Given the description of an element on the screen output the (x, y) to click on. 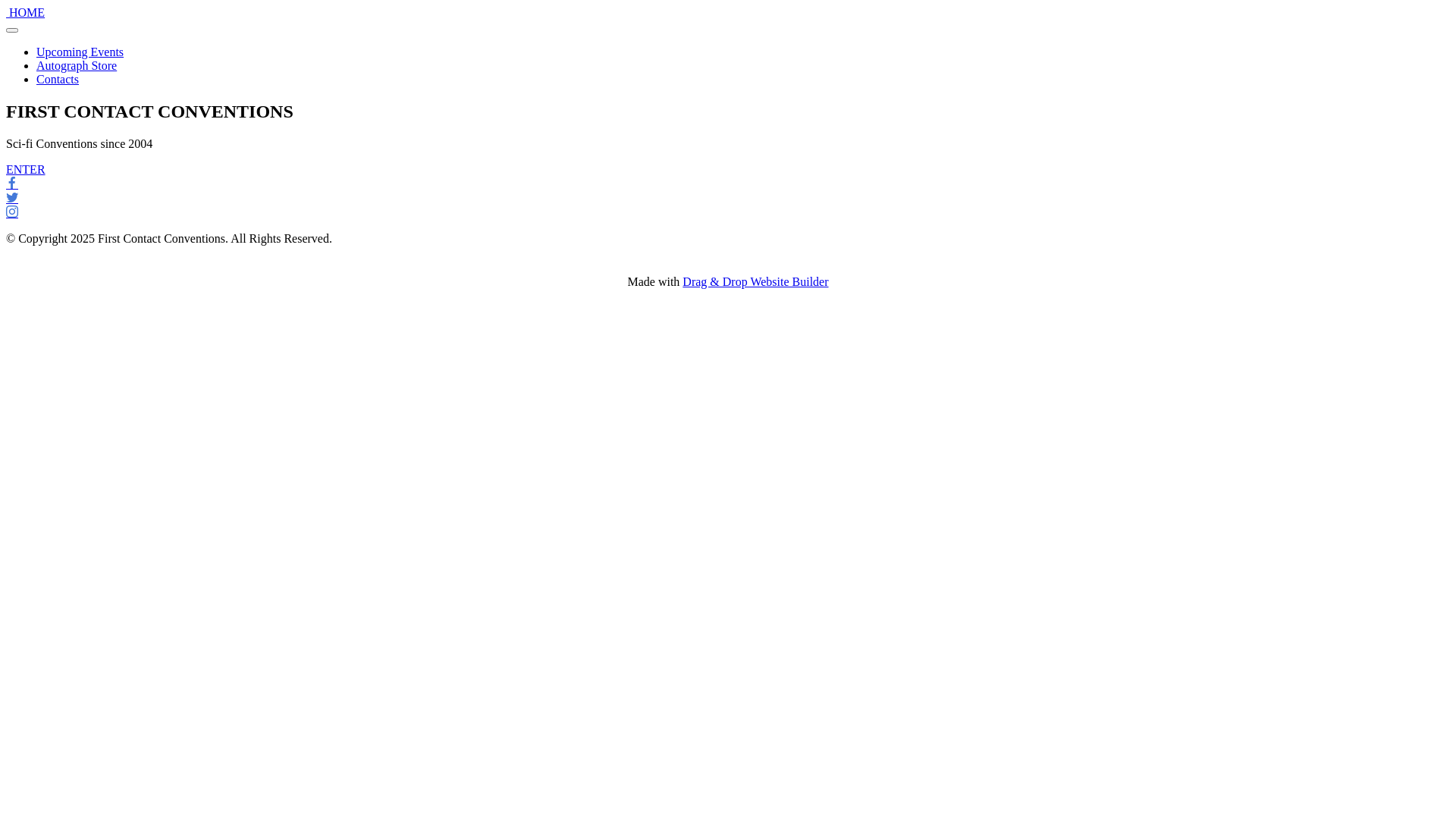
Autograph Store Element type: text (76, 65)
ENTER Element type: text (25, 169)
Drag & Drop Website Builder Element type: text (755, 281)
Upcoming Events Element type: text (79, 51)
HOME Element type: text (26, 12)
Contacts Element type: text (57, 78)
